Given the description of an element on the screen output the (x, y) to click on. 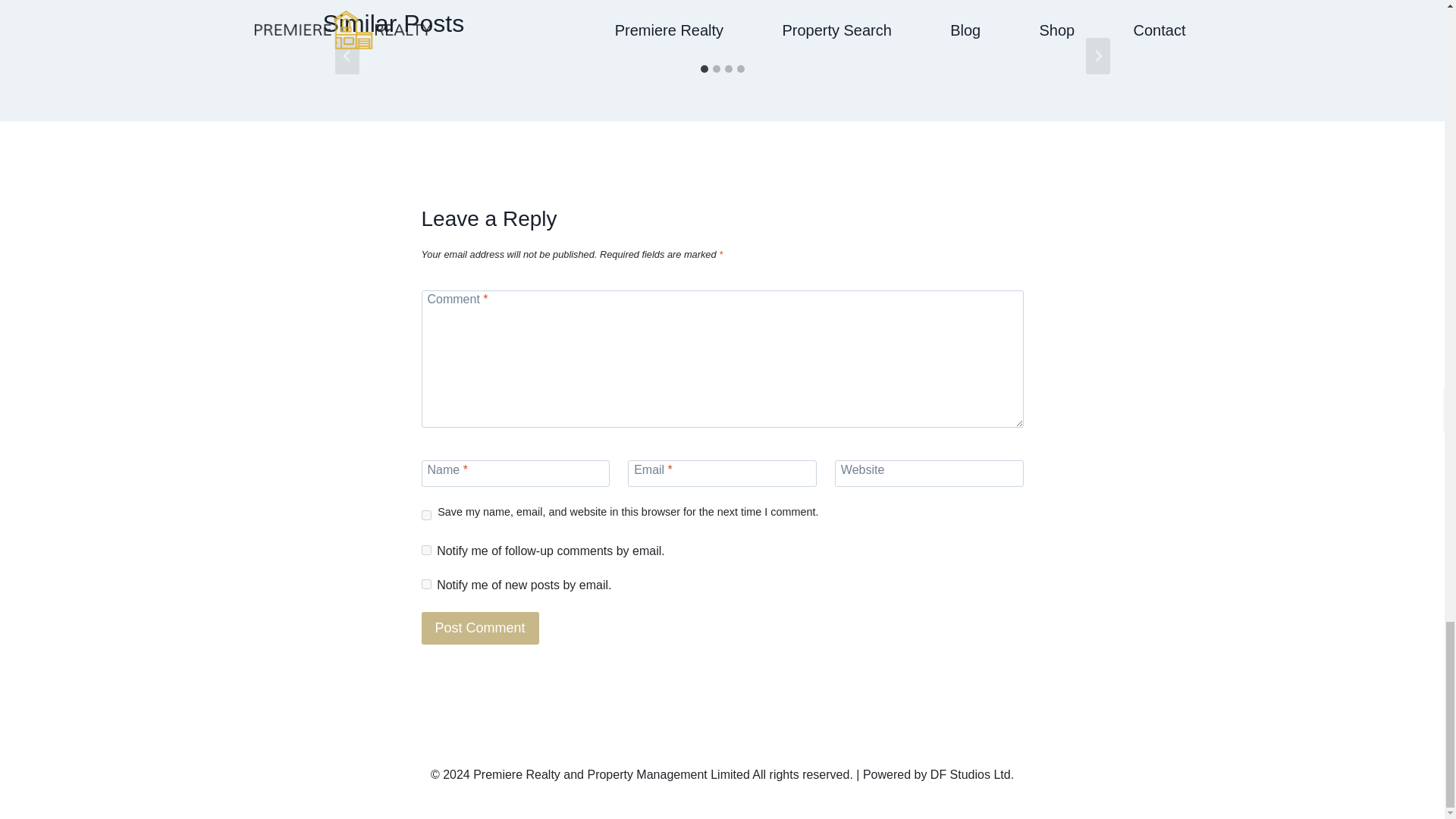
Post Comment (480, 627)
yes (426, 515)
subscribe (426, 583)
subscribe (426, 550)
